Given the description of an element on the screen output the (x, y) to click on. 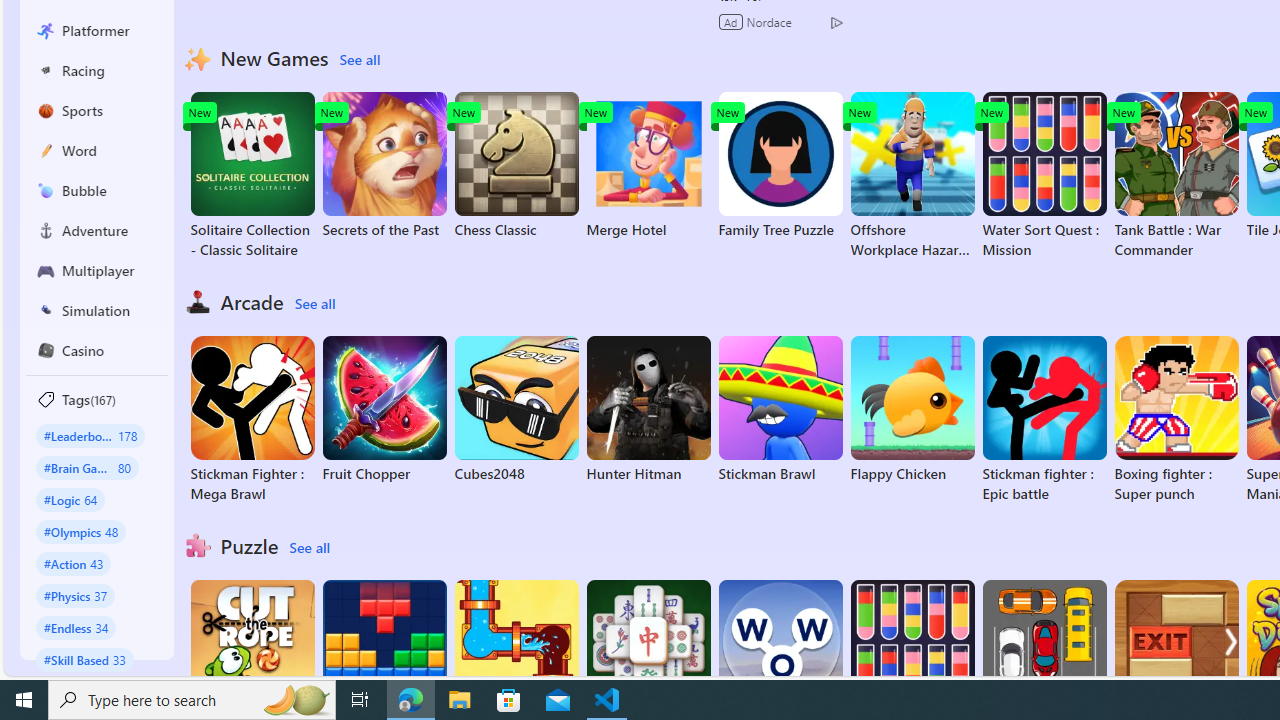
#Logic 64 (70, 498)
Class: ad-choice  ad-choice-mono  (836, 21)
Boxing fighter : Super punch (1176, 419)
#Brain Games 80 (87, 467)
#Endless 34 (75, 627)
#Action 43 (73, 563)
Family Tree Puzzle (780, 165)
Hunter Hitman (648, 409)
See all (309, 547)
Flappy Chicken (912, 409)
Stickman fighter : Epic battle (1044, 419)
Water Sort Quest : Mission (1044, 175)
